Given the description of an element on the screen output the (x, y) to click on. 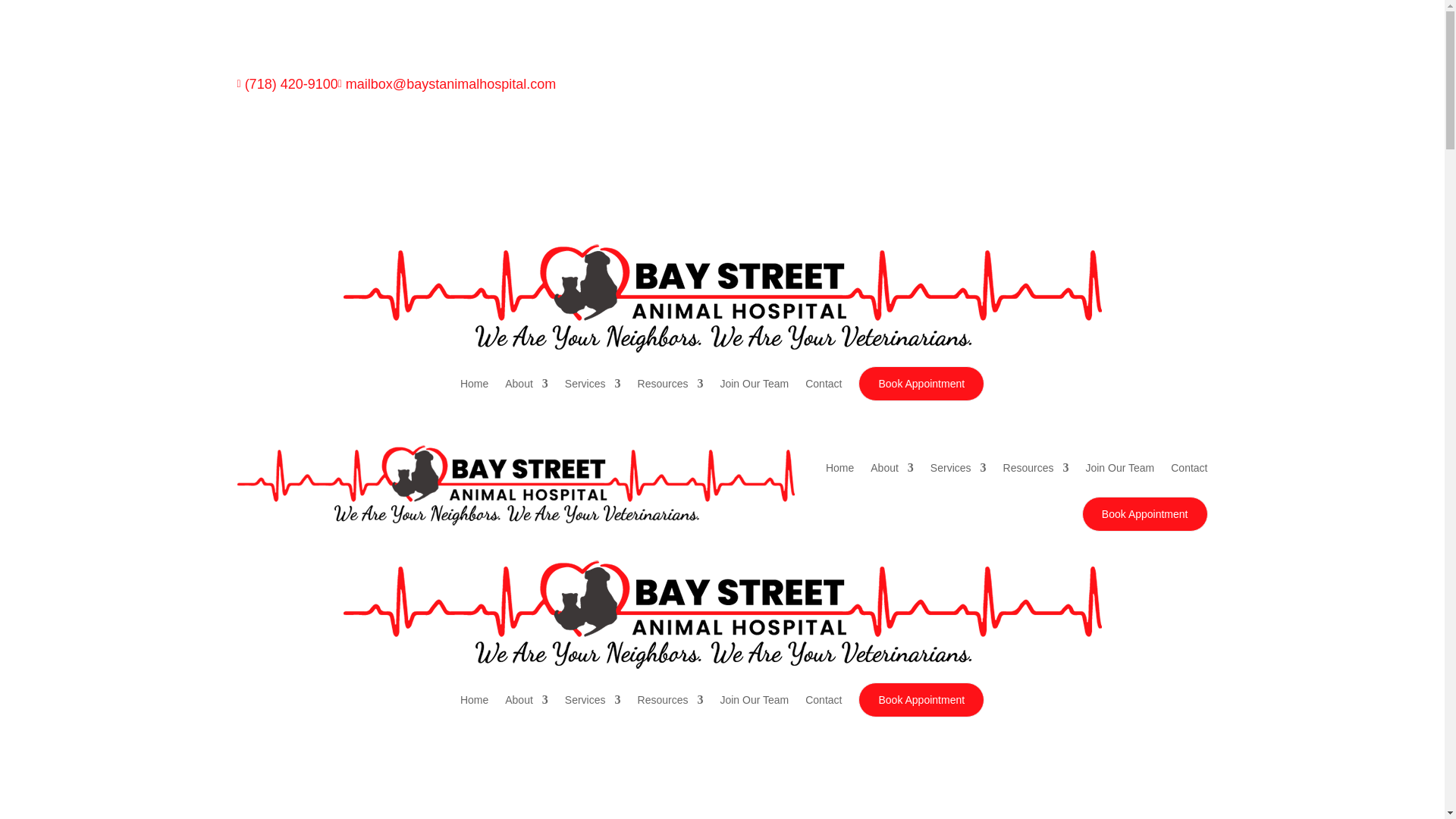
Join Our Team (754, 383)
Join Our Team (1119, 467)
Services (592, 383)
Resources (1035, 467)
Book Appointment (921, 383)
Resources (670, 383)
Services (958, 467)
